Given the description of an element on the screen output the (x, y) to click on. 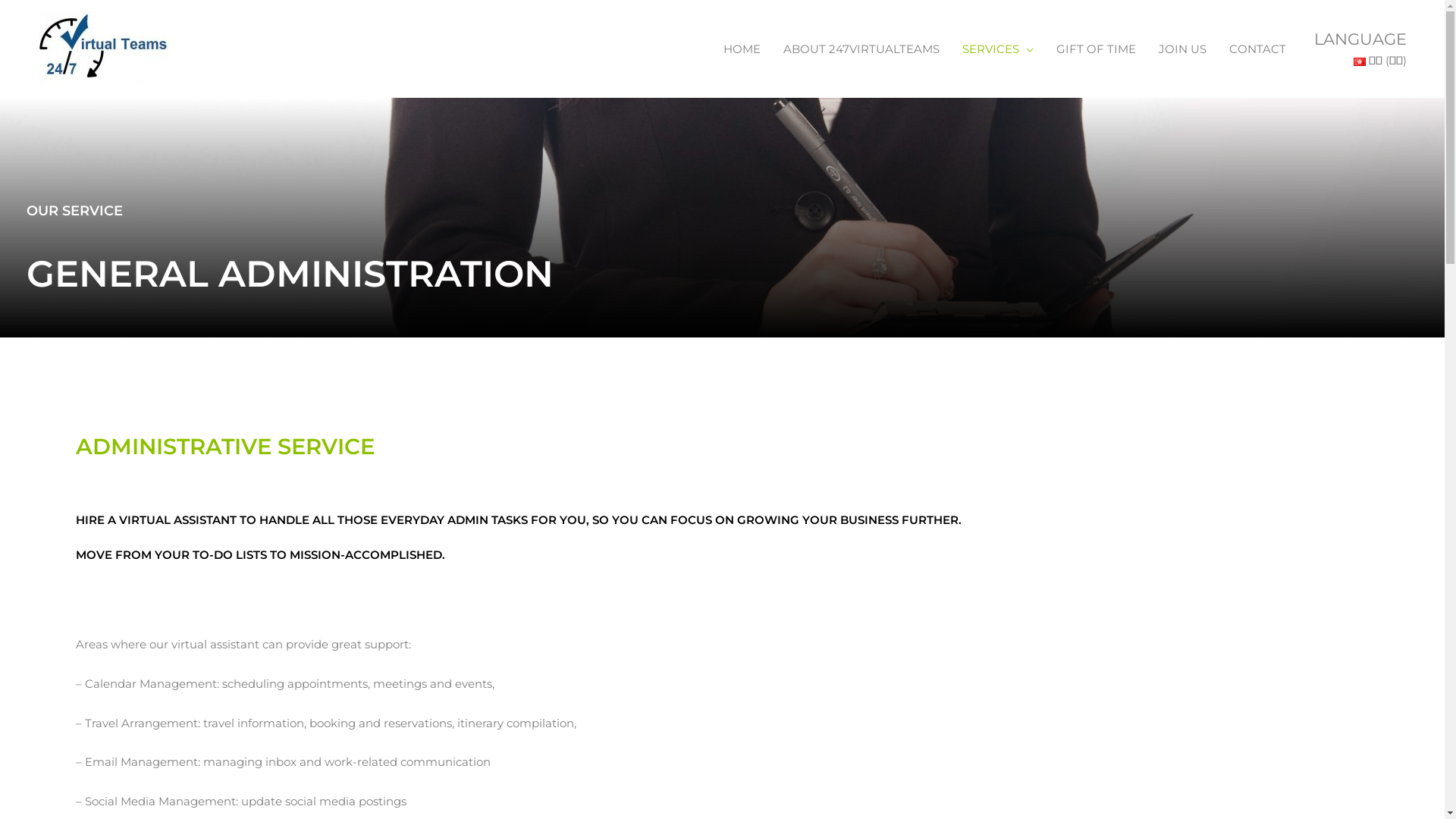
SERVICES Element type: text (997, 48)
ABOUT 247VIRTUALTEAMS Element type: text (860, 48)
JOIN US Element type: text (1181, 48)
GIFT OF TIME Element type: text (1095, 48)
HOME Element type: text (741, 48)
CONTACT Element type: text (1257, 48)
